Given the description of an element on the screen output the (x, y) to click on. 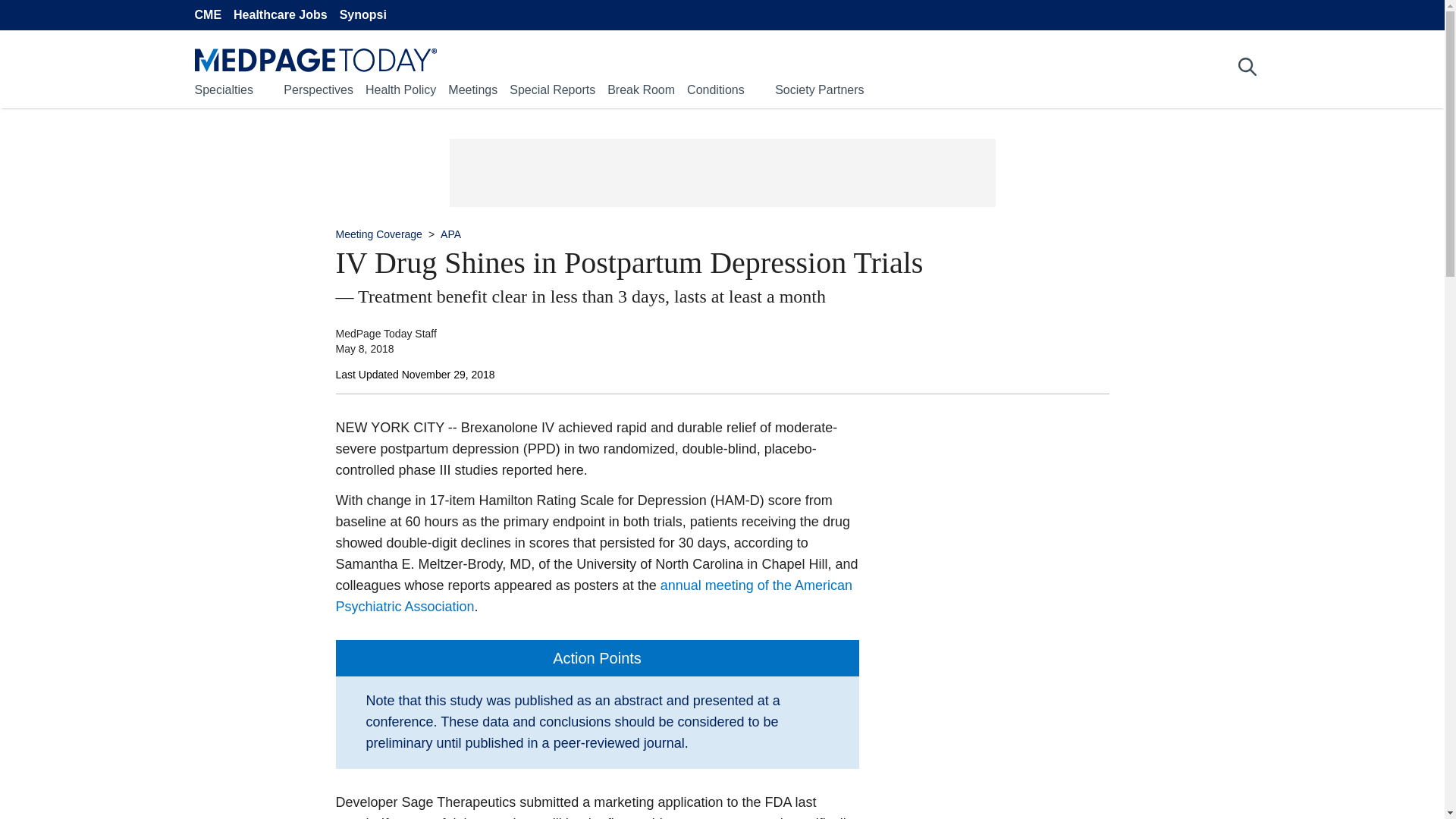
Healthcare Jobs (279, 15)
Synopsi (363, 15)
CME (207, 15)
Specialties (222, 89)
